Given the description of an element on the screen output the (x, y) to click on. 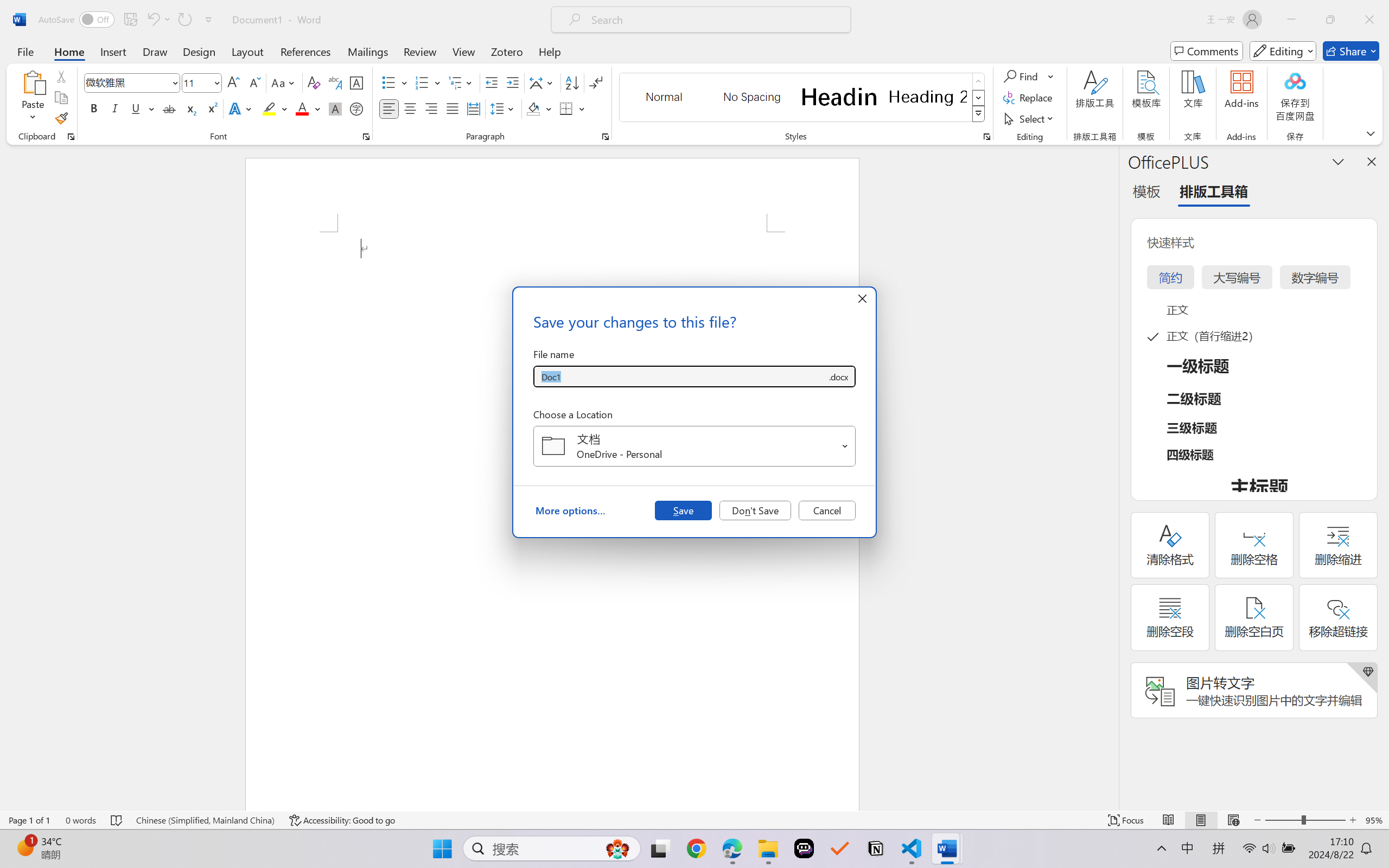
Choose a Location (694, 446)
